Given the description of an element on the screen output the (x, y) to click on. 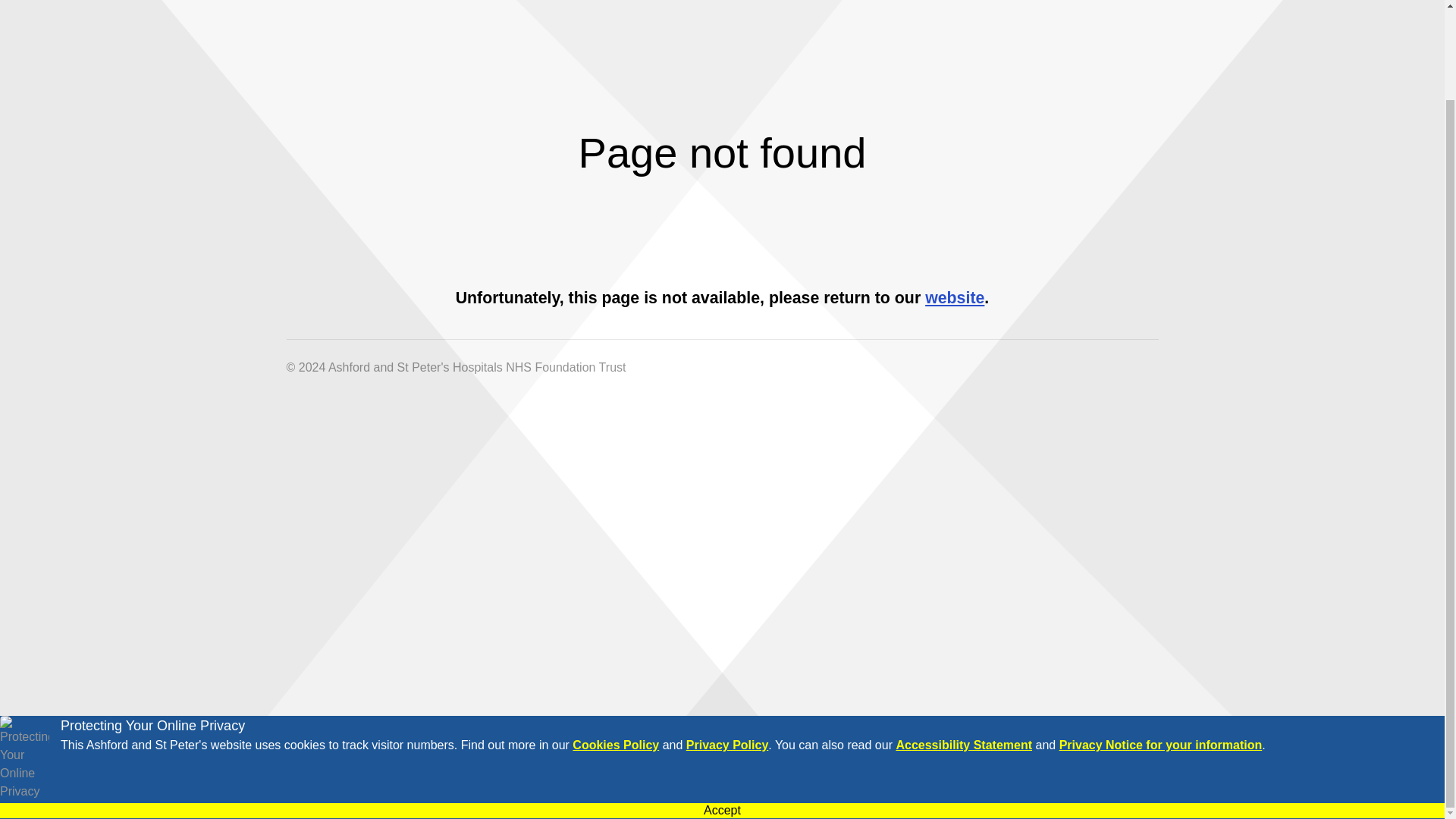
Accessibility Statement (963, 744)
Cookies Policy (615, 744)
website (954, 298)
Privacy Notice for your information (1160, 744)
Privacy Policy (726, 744)
